Given the description of an element on the screen output the (x, y) to click on. 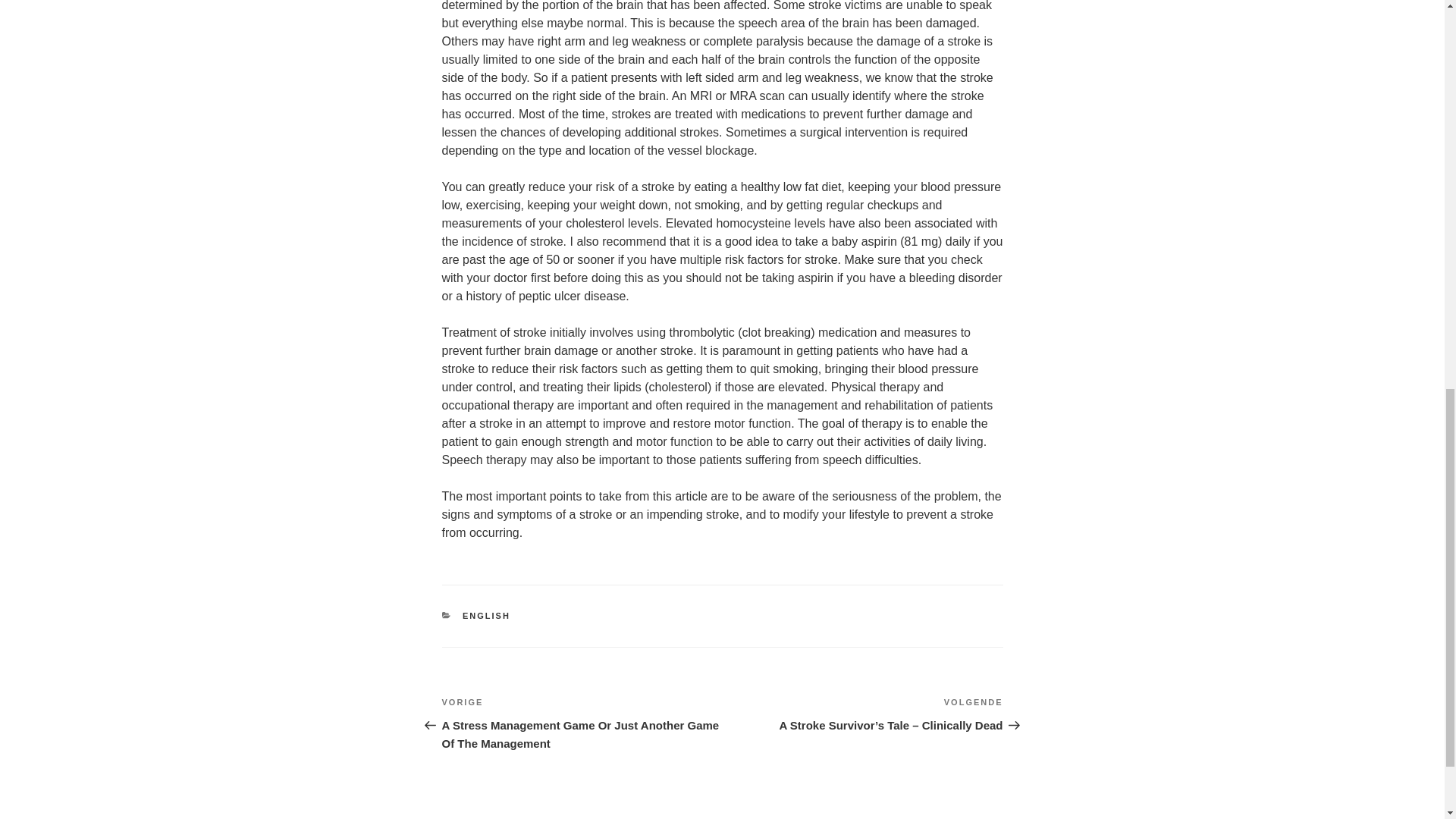
ENGLISH (487, 614)
